Given the description of an element on the screen output the (x, y) to click on. 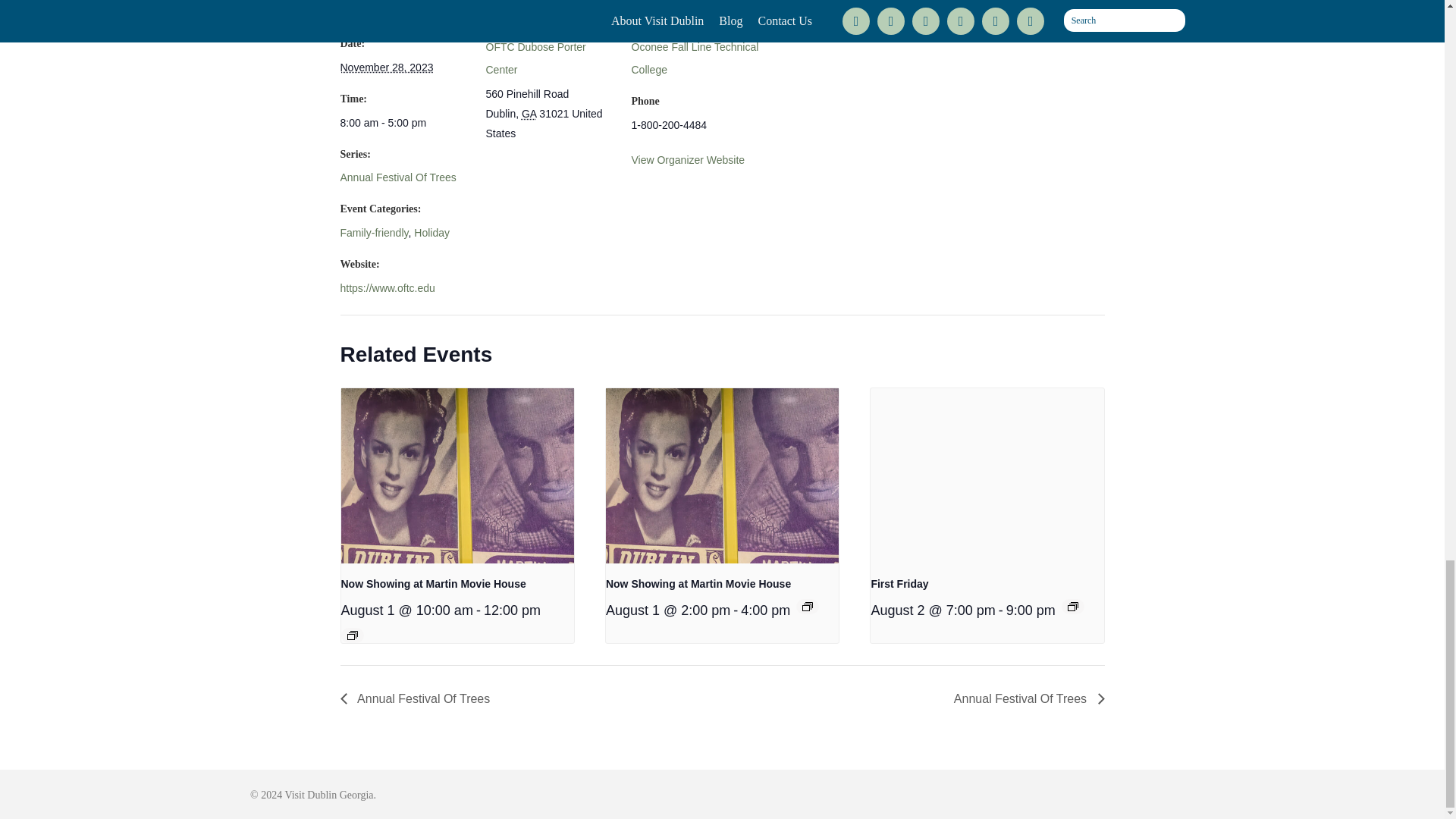
Georgia (528, 113)
Event Series (1072, 605)
Event Series (352, 634)
Annual Festival Of Trees (397, 177)
2023-11-28 (403, 122)
Event Series (807, 605)
OFTC Dubose Porter Center (534, 58)
Oconee Fall Line Technical College (694, 58)
Holiday (431, 232)
2023-11-28 (385, 67)
Family-friendly (373, 232)
Annual Festival Of Trees (397, 177)
